Given the description of an element on the screen output the (x, y) to click on. 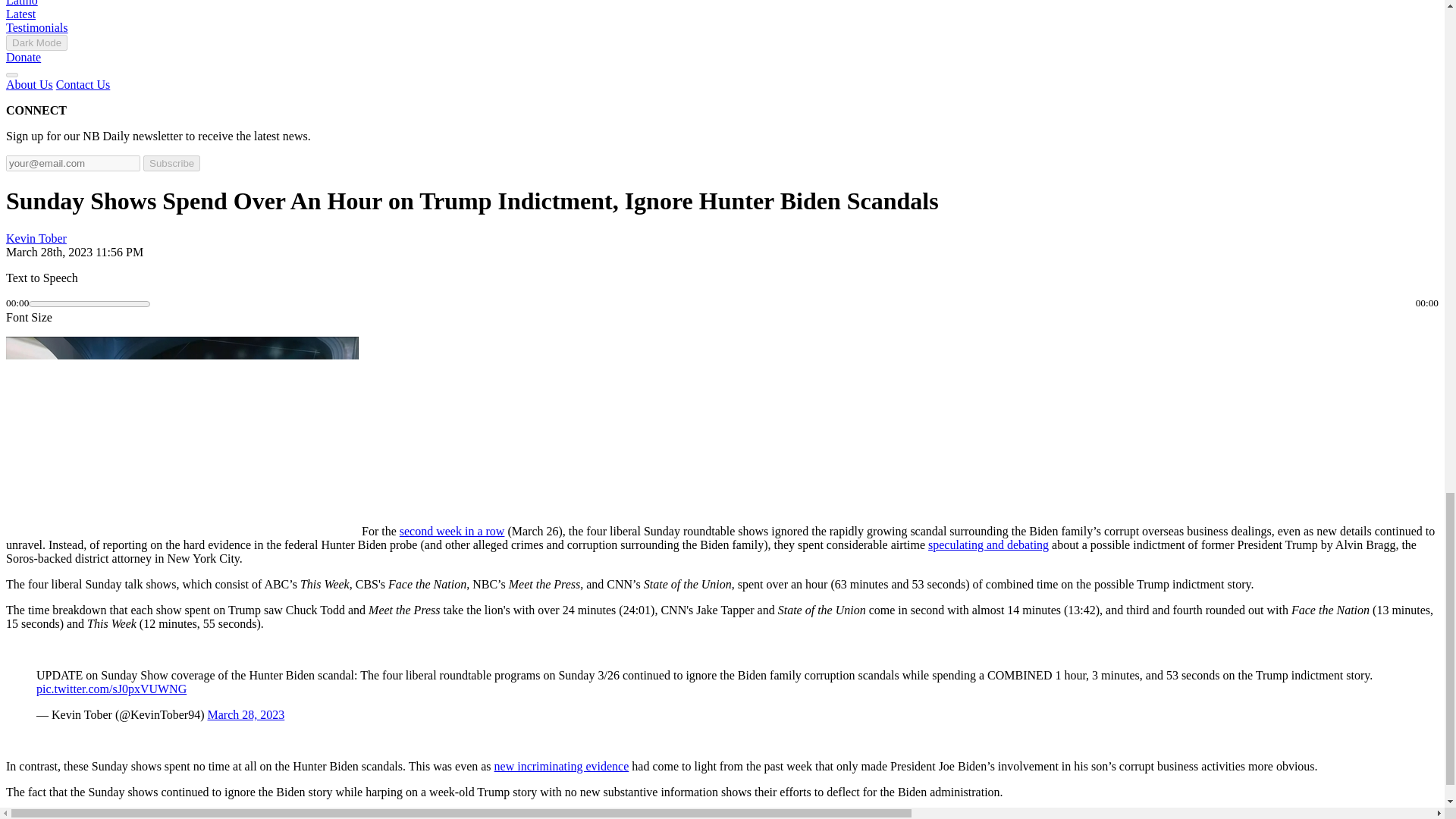
Donate (22, 56)
Testimonials (36, 27)
Dark Mode (35, 42)
